Given the description of an element on the screen output the (x, y) to click on. 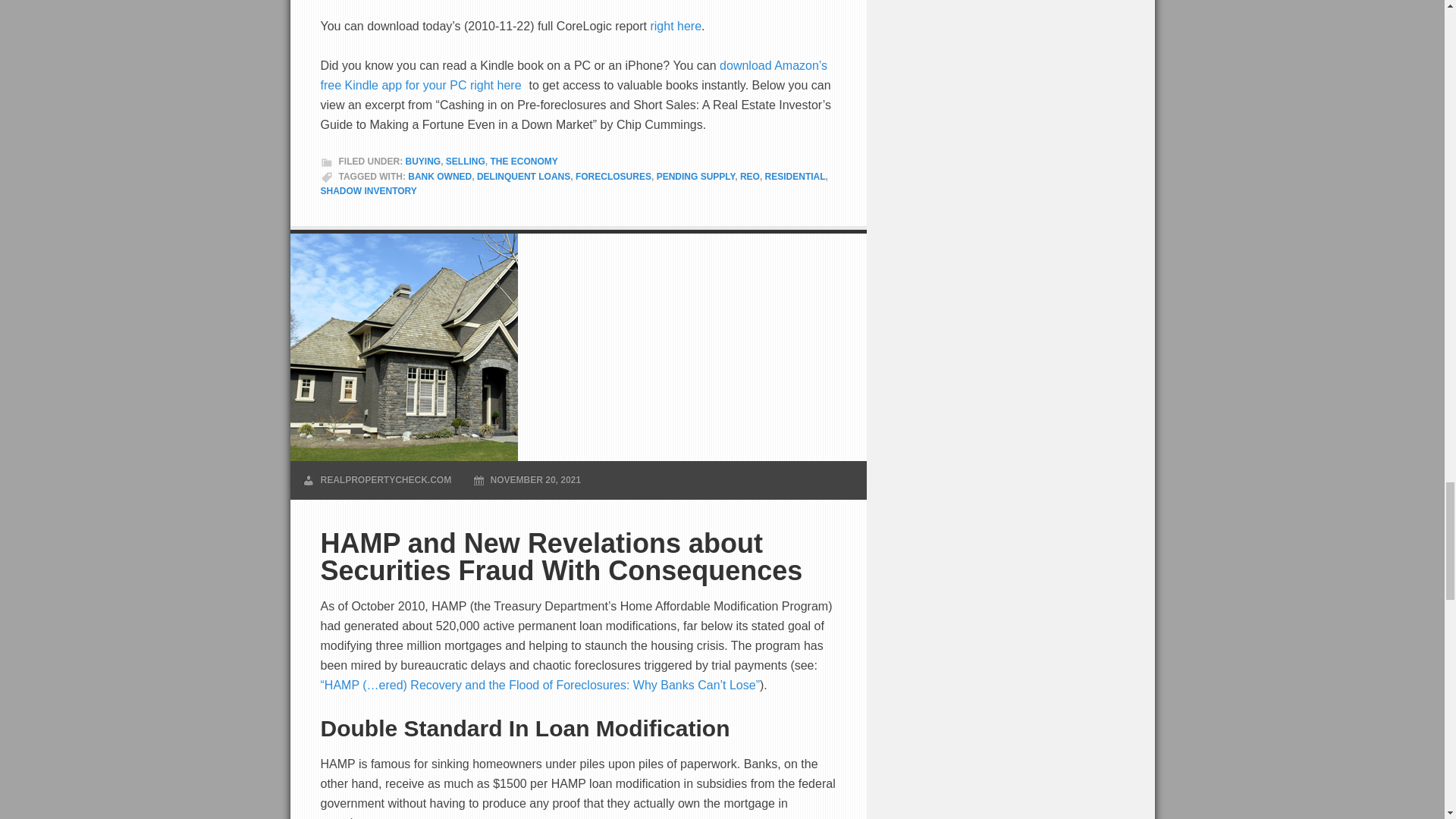
BANK OWNED (439, 176)
CoreLogic Shadow Inventory Report for August 2010 (675, 25)
REALPROPERTYCHECK.COM (385, 480)
PENDING SUPPLY (695, 176)
SHADOW INVENTORY (368, 190)
FORECLOSURES (612, 176)
REO (749, 176)
RESIDENTIAL (795, 176)
THE ECONOMY (523, 161)
DELINQUENT LOANS (523, 176)
BUYING (422, 161)
SELLING (464, 161)
right here (675, 25)
